Given the description of an element on the screen output the (x, y) to click on. 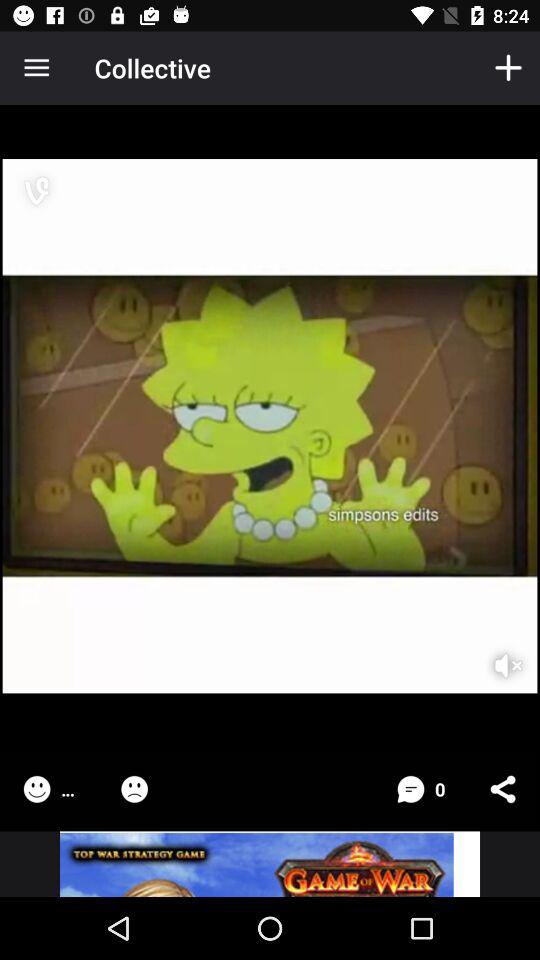
go to advertisement (270, 864)
